Given the description of an element on the screen output the (x, y) to click on. 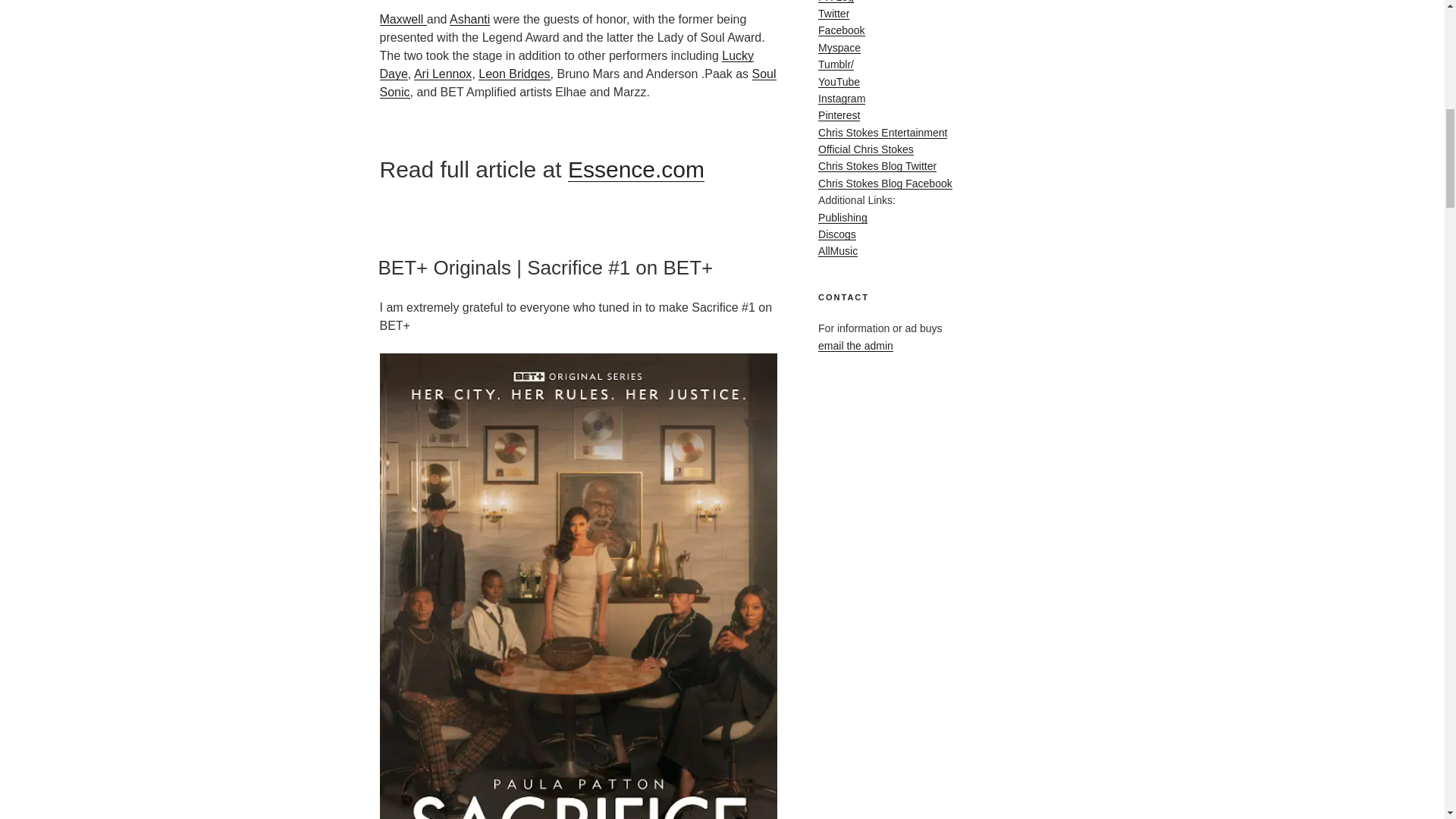
Maxwell  (402, 19)
Ashanti (469, 19)
Essence.com (635, 169)
Lucky Daye (566, 64)
Ari Lennox (442, 73)
Leon Bridges (514, 73)
Soul Sonic (577, 82)
